Given the description of an element on the screen output the (x, y) to click on. 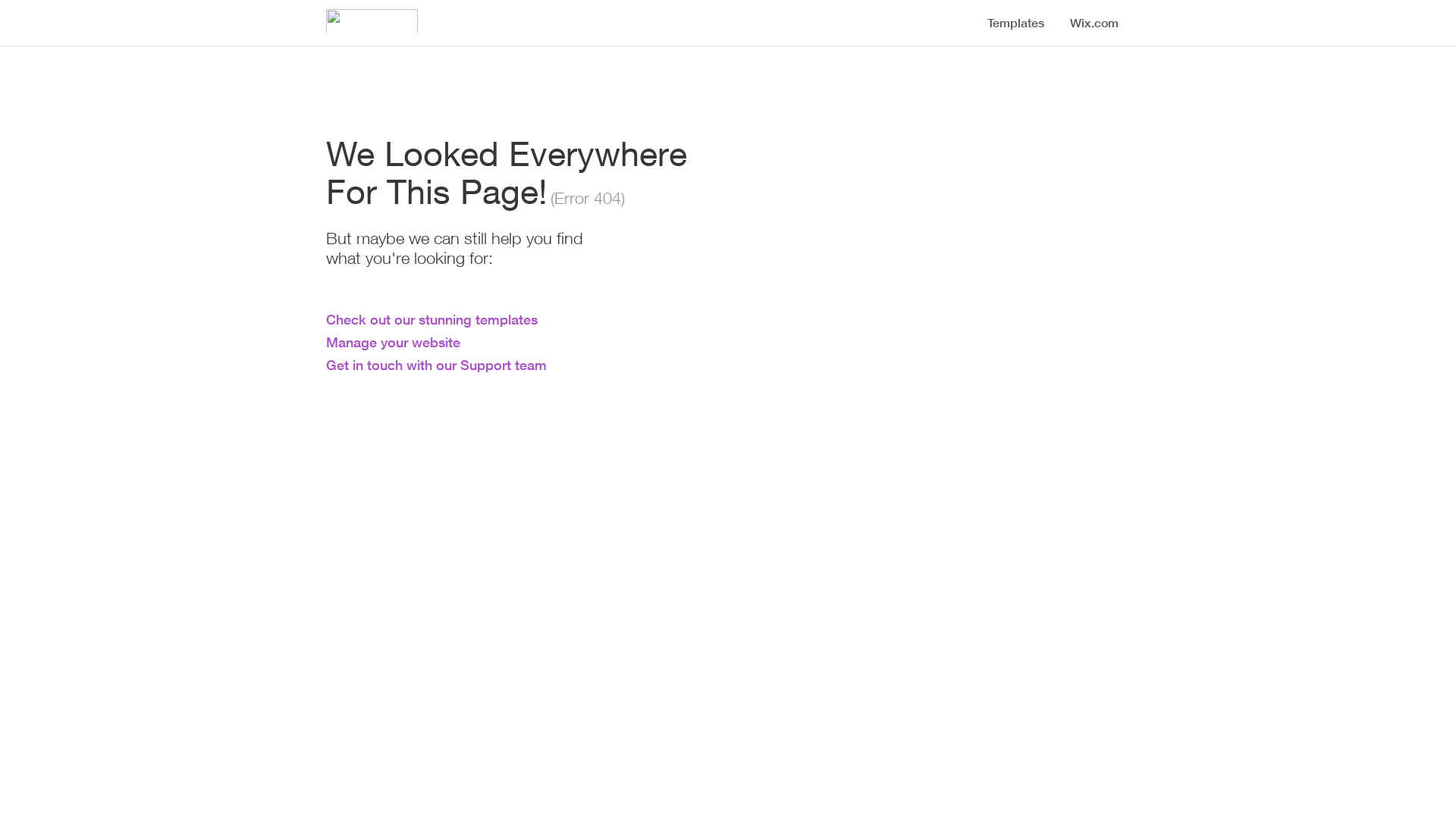
Manage your website Element type: text (393, 341)
Get in touch with our Support team Element type: text (436, 364)
Check out our stunning templates Element type: text (431, 318)
